Given the description of an element on the screen output the (x, y) to click on. 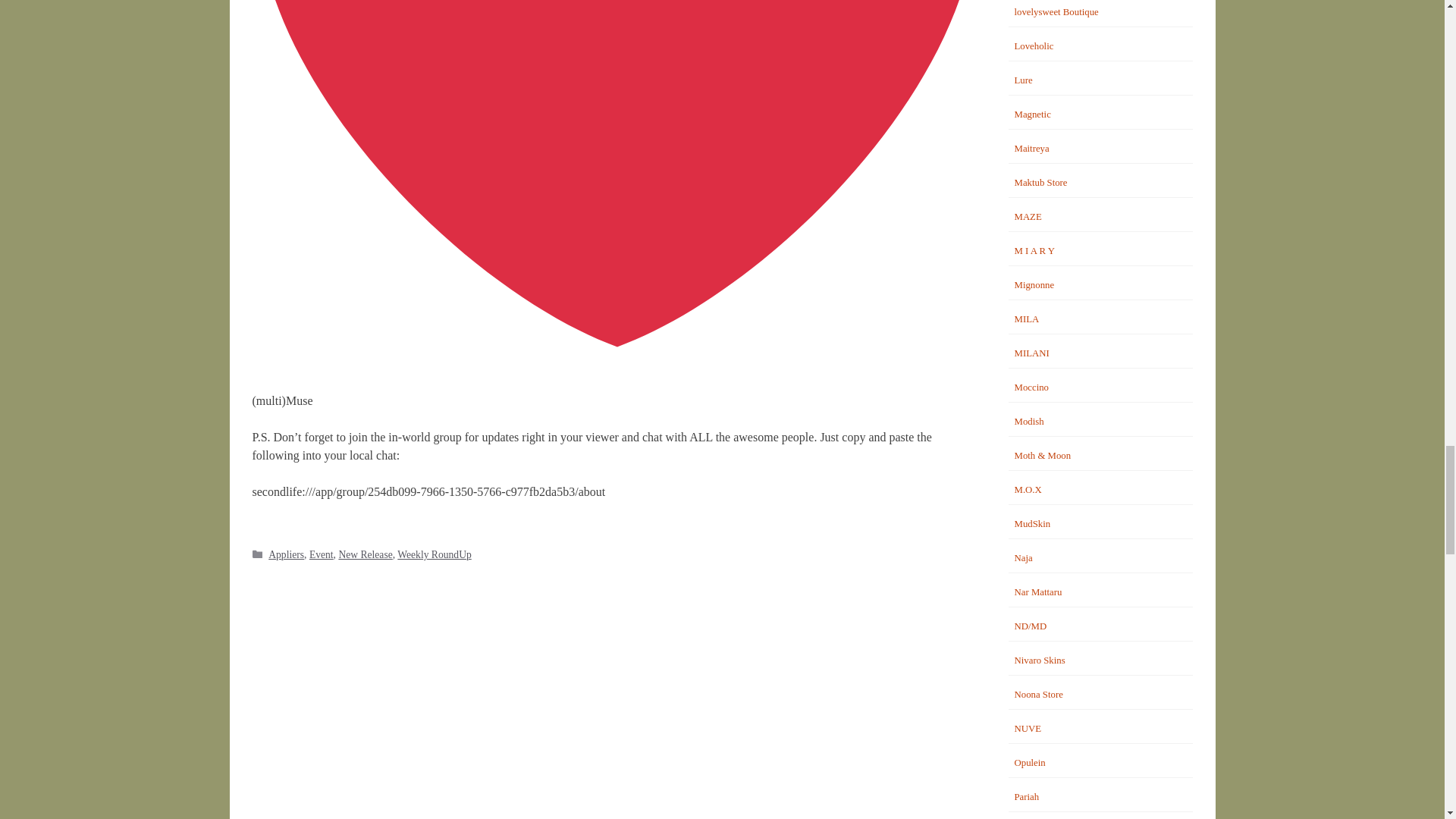
Weekly RoundUp (433, 554)
Event (320, 554)
Appliers (285, 554)
New Release (364, 554)
